Given the description of an element on the screen output the (x, y) to click on. 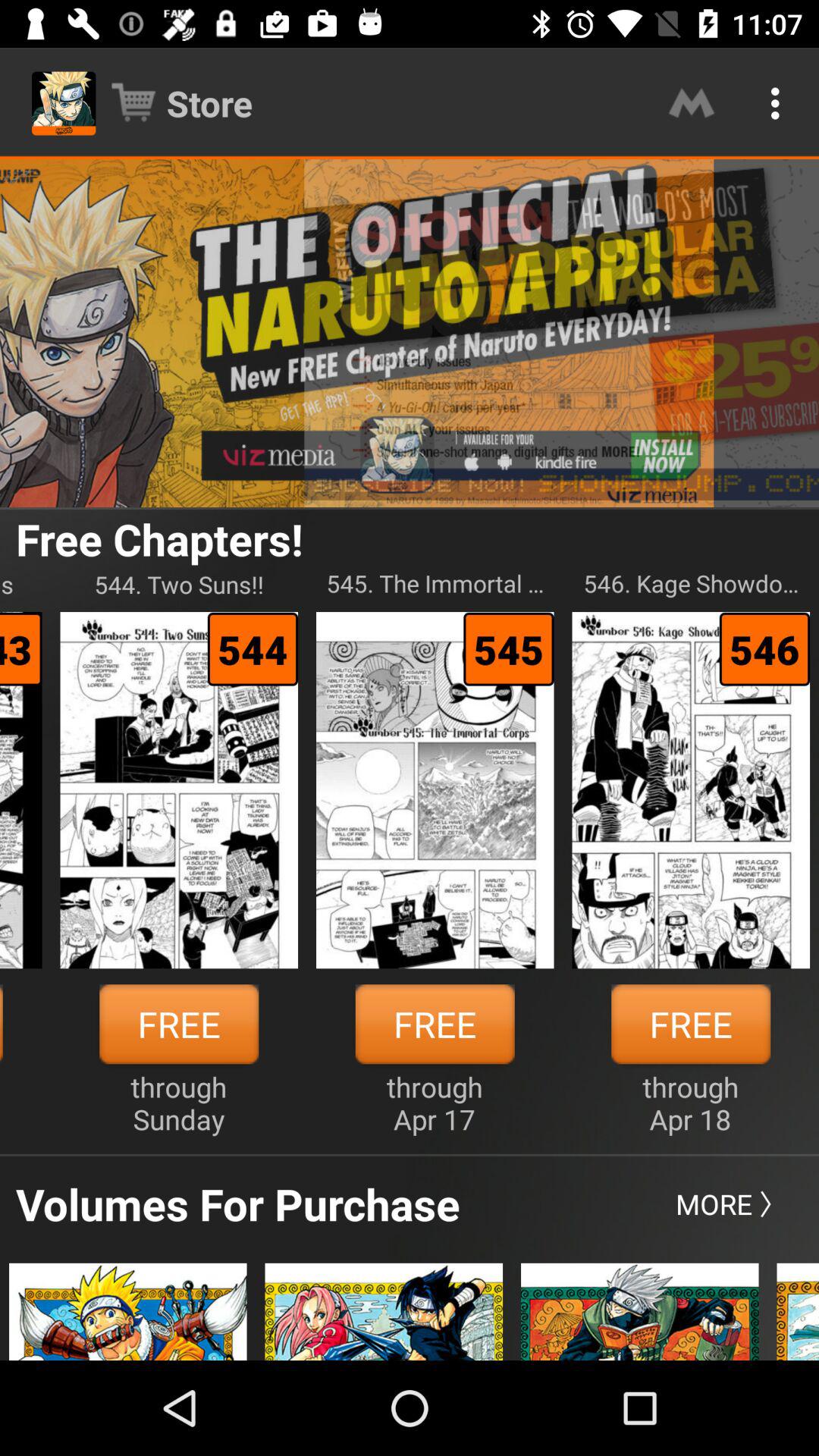
jump to free chapters! item (159, 538)
